Given the description of an element on the screen output the (x, y) to click on. 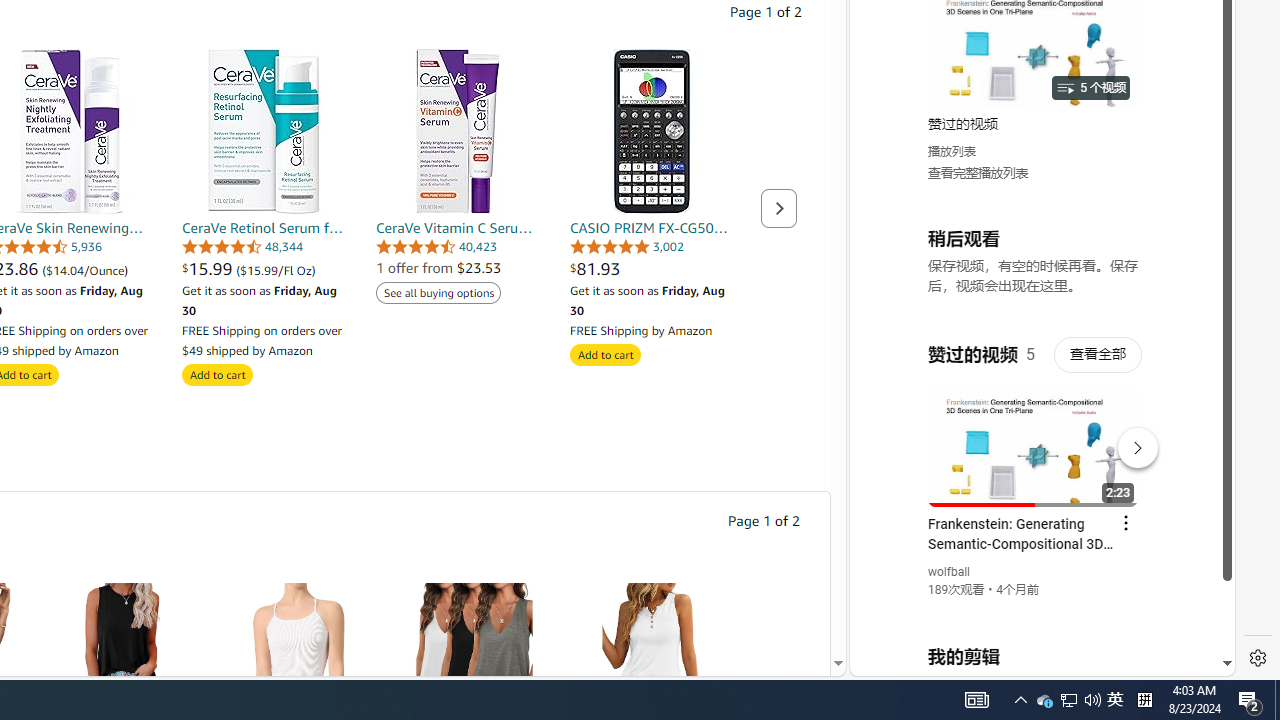
you (1034, 609)
